Given the description of an element on the screen output the (x, y) to click on. 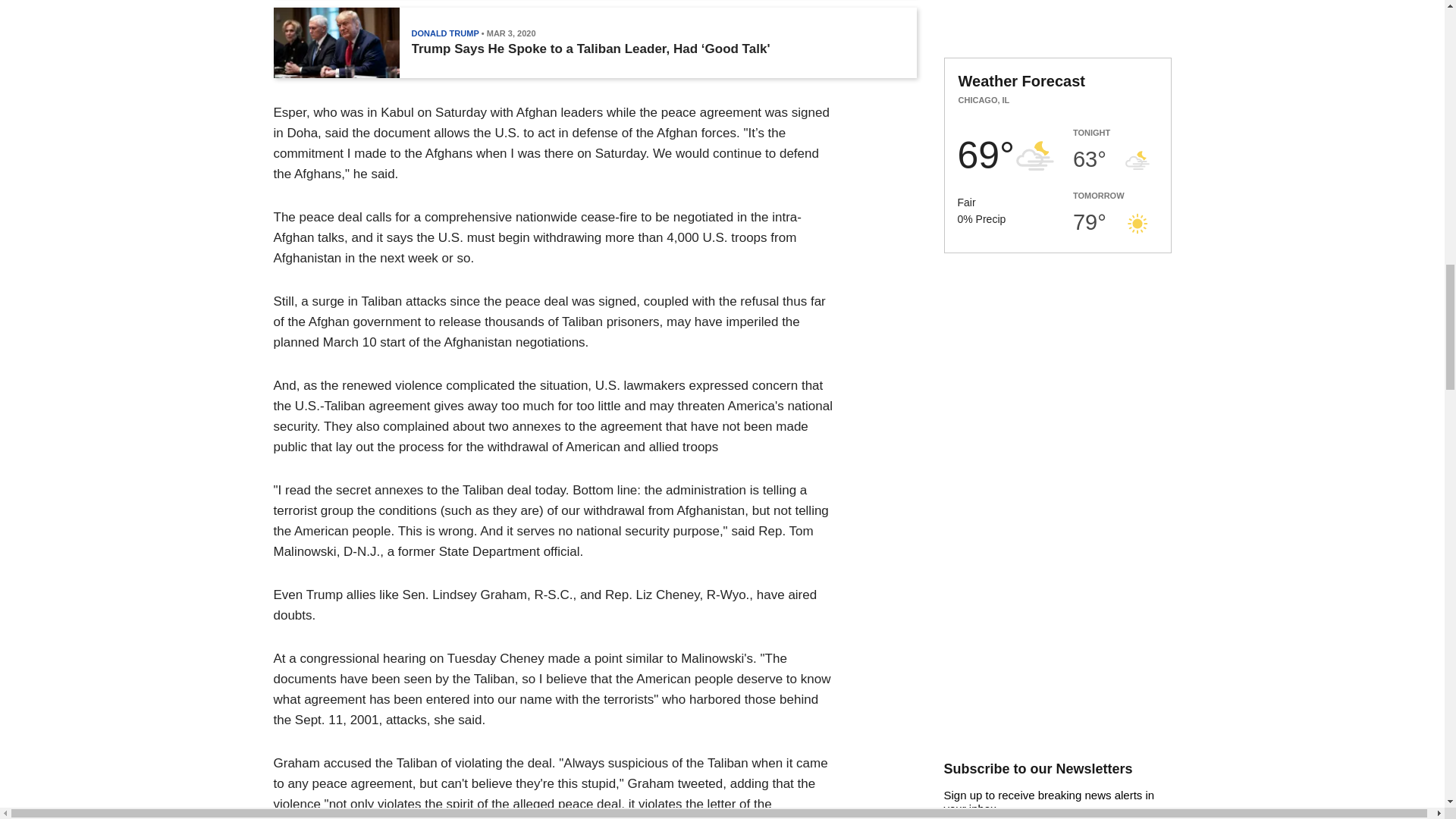
DONALD TRUMP (444, 32)
